Given the description of an element on the screen output the (x, y) to click on. 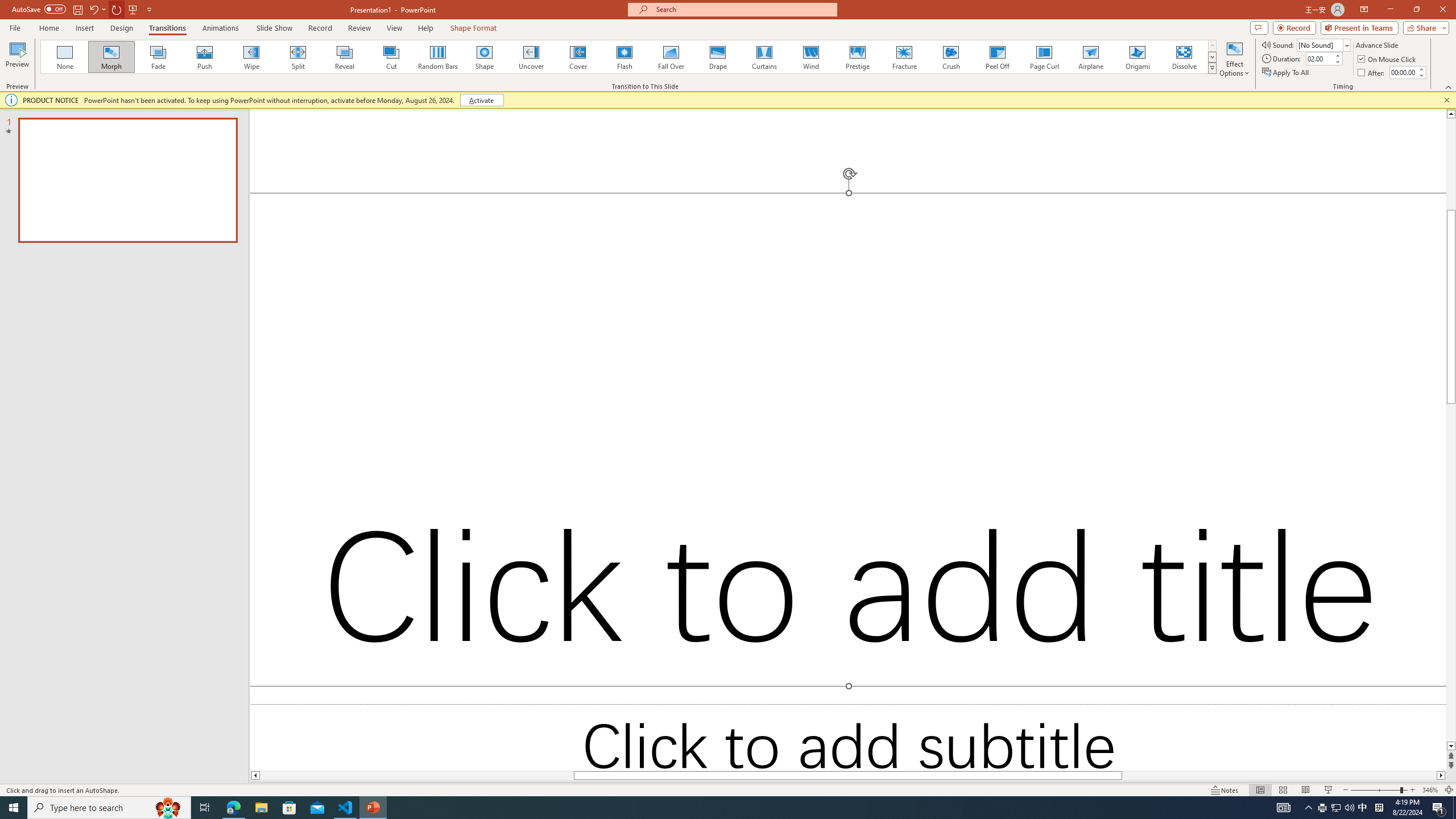
Curtains (764, 56)
None (65, 56)
Flash (624, 56)
Peel Off (997, 56)
Activate (481, 100)
Drape (717, 56)
